Given the description of an element on the screen output the (x, y) to click on. 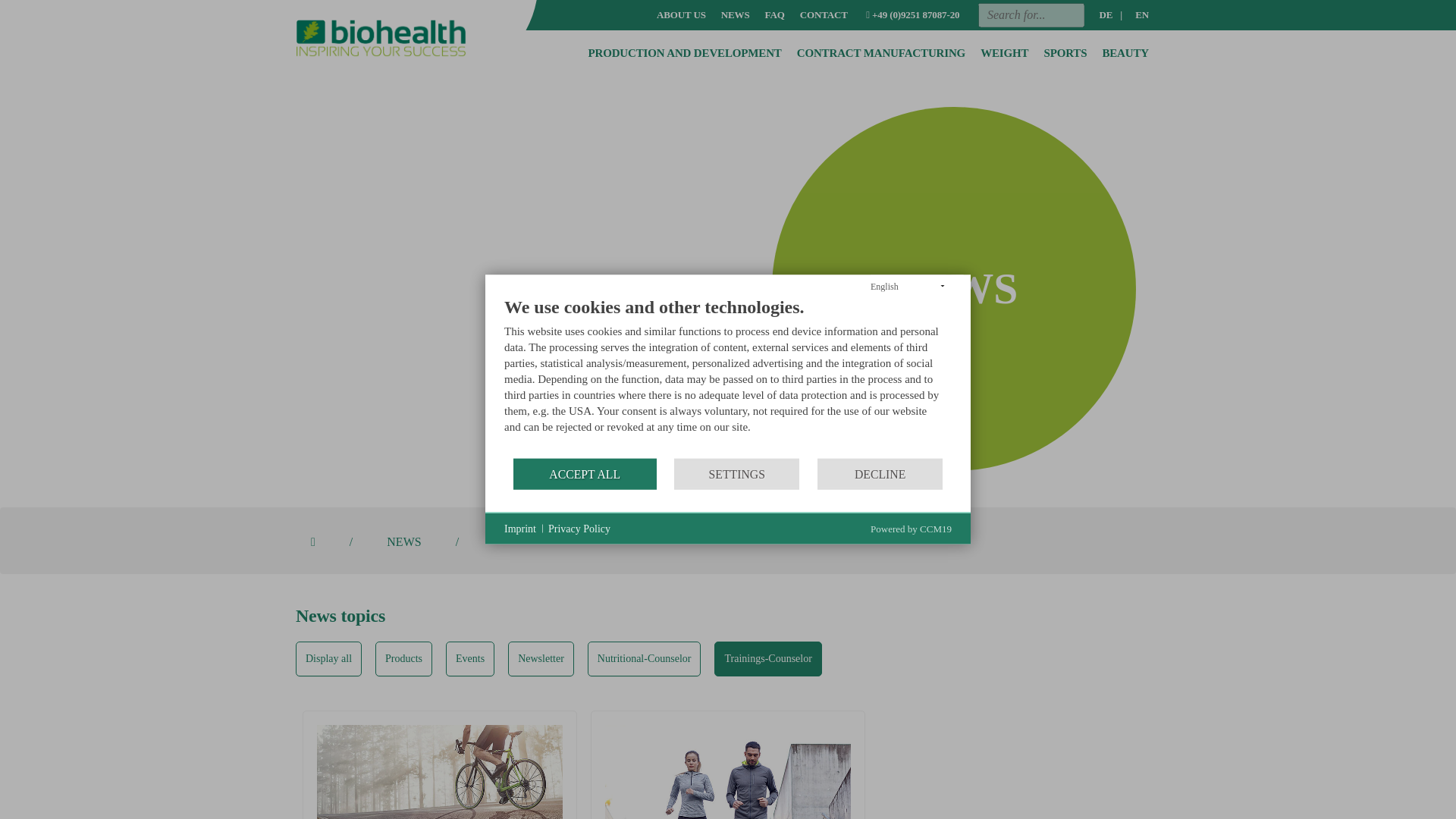
Nutritional-Counselor (644, 658)
PRODUCTION AND DEVELOPMENT (684, 53)
Biohealth International (403, 54)
Display all (328, 658)
Events (470, 658)
Trainings-Counselor (767, 658)
Newsletter (540, 658)
CONTRACT MANUFACTURING (880, 53)
Products (403, 658)
CONTACT (823, 15)
